Given the description of an element on the screen output the (x, y) to click on. 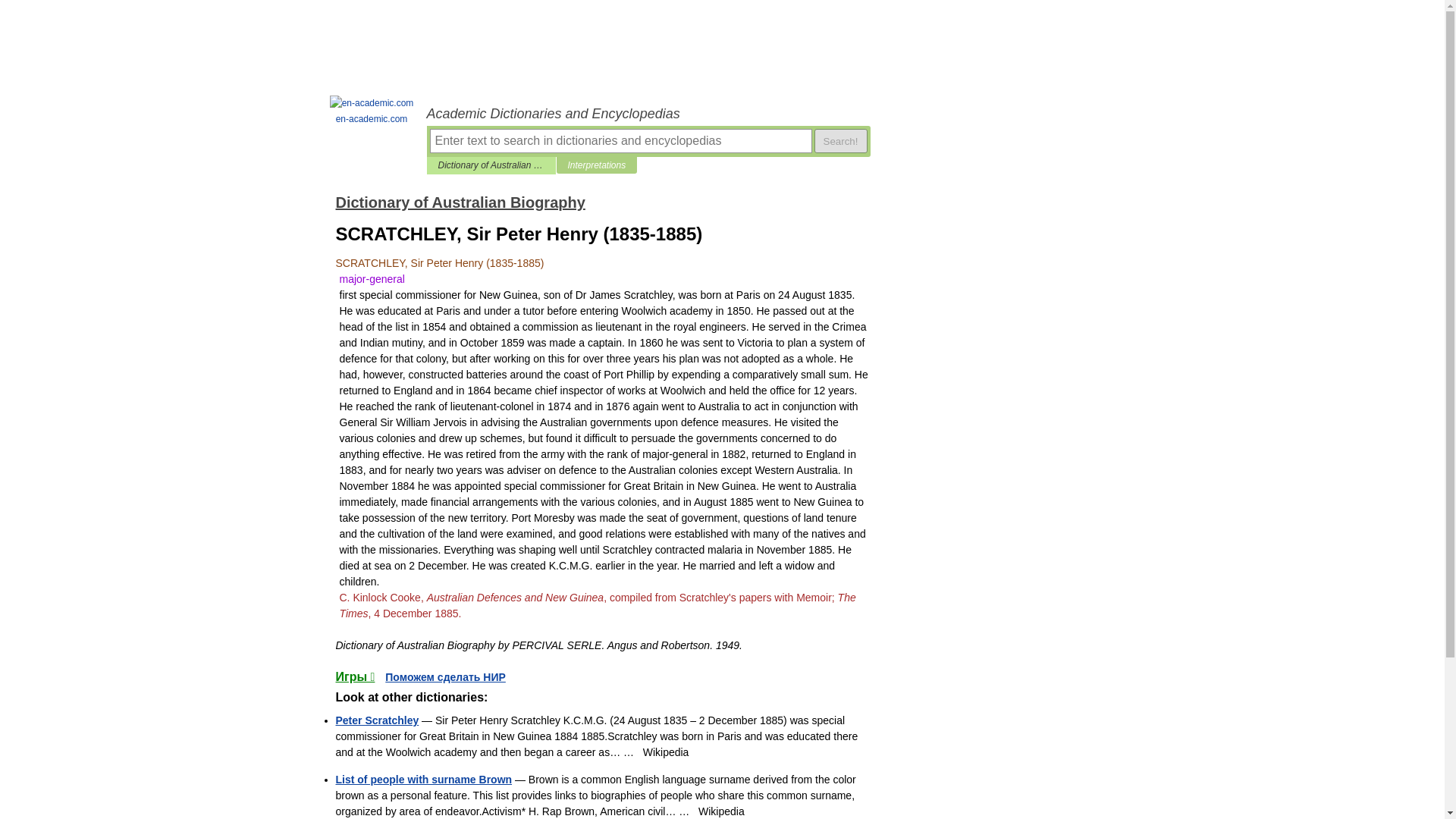
Dictionary of Australian Biography (491, 165)
List of people with surname Brown (423, 779)
Academic Dictionaries and Encyclopedias (647, 114)
Interpretations (596, 165)
Enter text to search in dictionaries and encyclopedias (619, 140)
en-academic.com (371, 111)
Search! (840, 140)
Peter Scratchley (376, 720)
Dictionary of Australian Biography (459, 202)
